Given the description of an element on the screen output the (x, y) to click on. 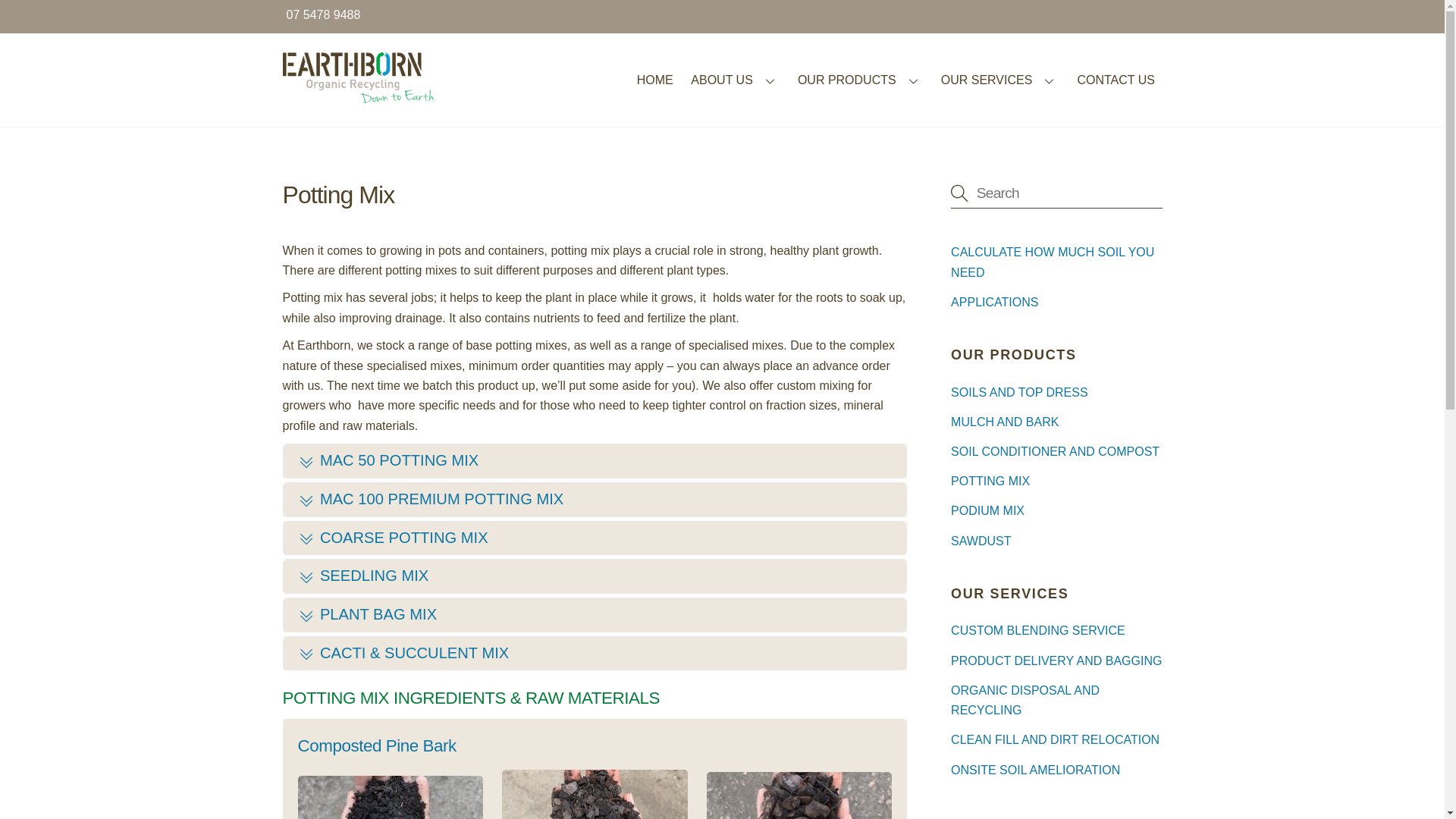
MAC 100 PREMIUM POTTING MIX Element type: text (594, 499)
ABOUT US Element type: text (735, 79)
PLANT BAG MIX Element type: text (594, 614)
SOIL CONDITIONER AND COMPOST Element type: text (1054, 451)
MULCH AND BARK Element type: text (1004, 421)
OUR PRODUCTS Element type: text (859, 79)
CONTACT US Element type: text (1116, 79)
Earthborn Australia Element type: hover (357, 95)
logo Element type: hover (357, 77)
SEEDLING MIX Element type: text (594, 576)
POTTING MIX Element type: text (989, 480)
CACTI & SUCCULENT MIX Element type: text (594, 653)
Search Element type: hover (1055, 192)
COARSE POTTING MIX Element type: text (594, 538)
SOILS AND TOP DRESS Element type: text (1019, 391)
ONSITE SOIL AMELIORATION Element type: text (1035, 769)
MAC 50 POTTING MIX Element type: text (594, 460)
PODIUM MIX Element type: text (987, 510)
HOME Element type: text (654, 79)
APPLICATIONS Element type: text (994, 301)
07 5478 9488 Element type: text (323, 14)
PRODUCT DELIVERY AND BAGGING Element type: text (1055, 660)
CUSTOM BLENDING SERVICE Element type: text (1037, 630)
OUR SERVICES Element type: text (999, 79)
ORGANIC DISPOSAL AND RECYCLING Element type: text (1024, 700)
CALCULATE HOW MUCH SOIL YOU NEED Element type: text (1052, 261)
SAWDUST Element type: text (980, 540)
CLEAN FILL AND DIRT RELOCATION Element type: text (1054, 739)
